Given the description of an element on the screen output the (x, y) to click on. 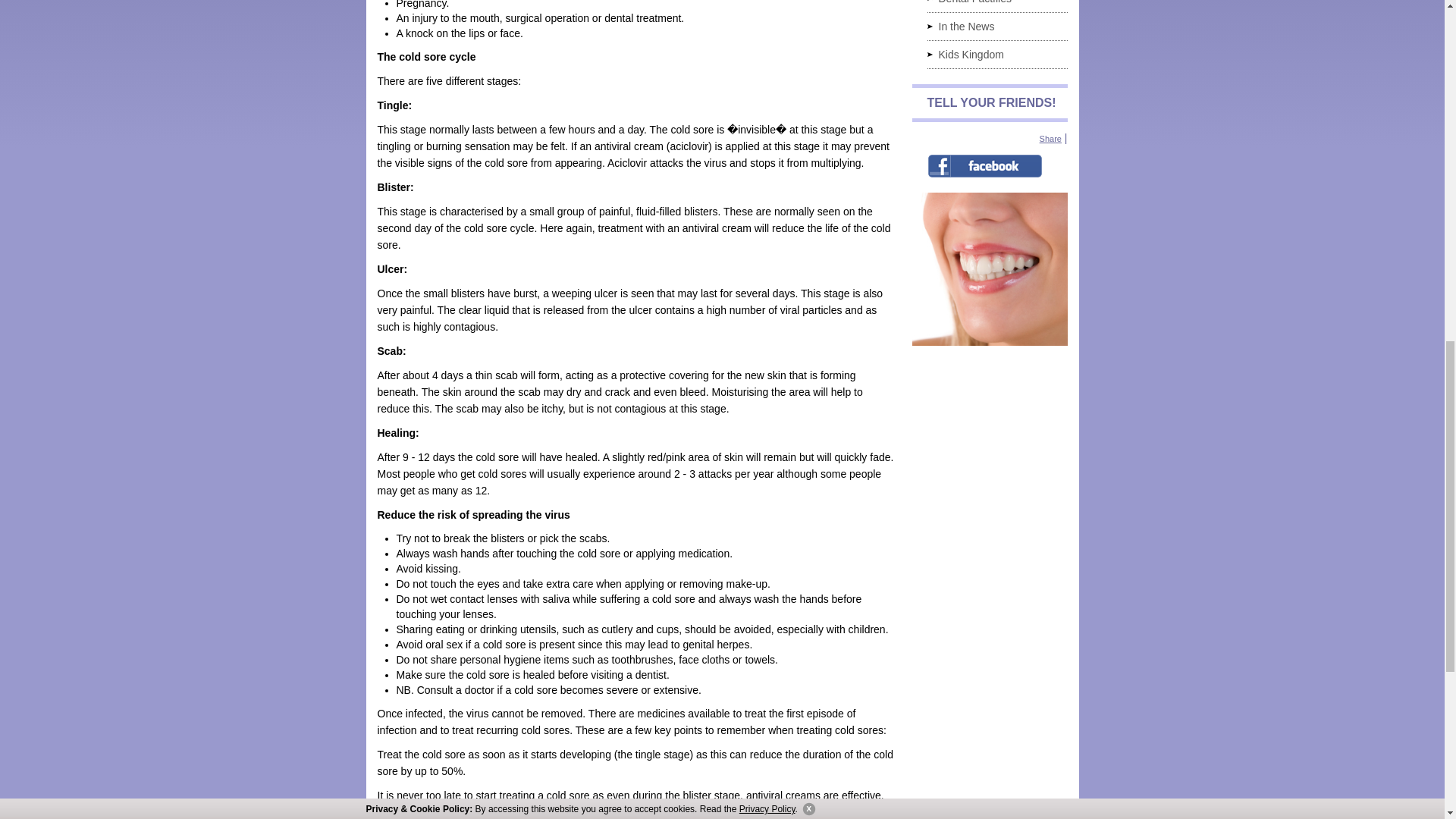
Share (1050, 138)
In the News (996, 26)
find us on Facebook (984, 165)
Kids Kingdom (996, 53)
Dental Factfiles (996, 6)
